Given the description of an element on the screen output the (x, y) to click on. 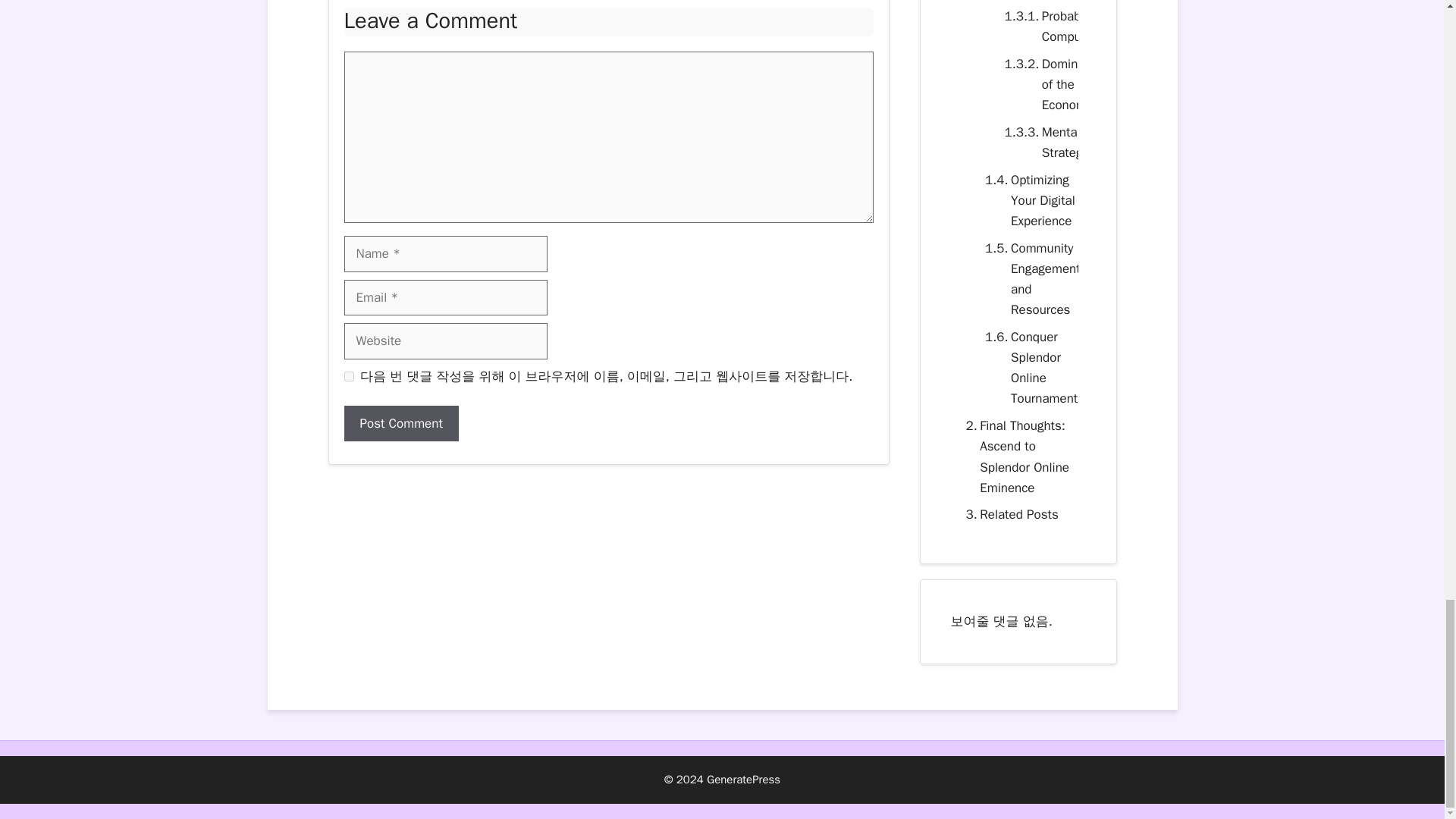
yes (348, 376)
Post Comment (400, 423)
Post Comment (400, 423)
